Given the description of an element on the screen output the (x, y) to click on. 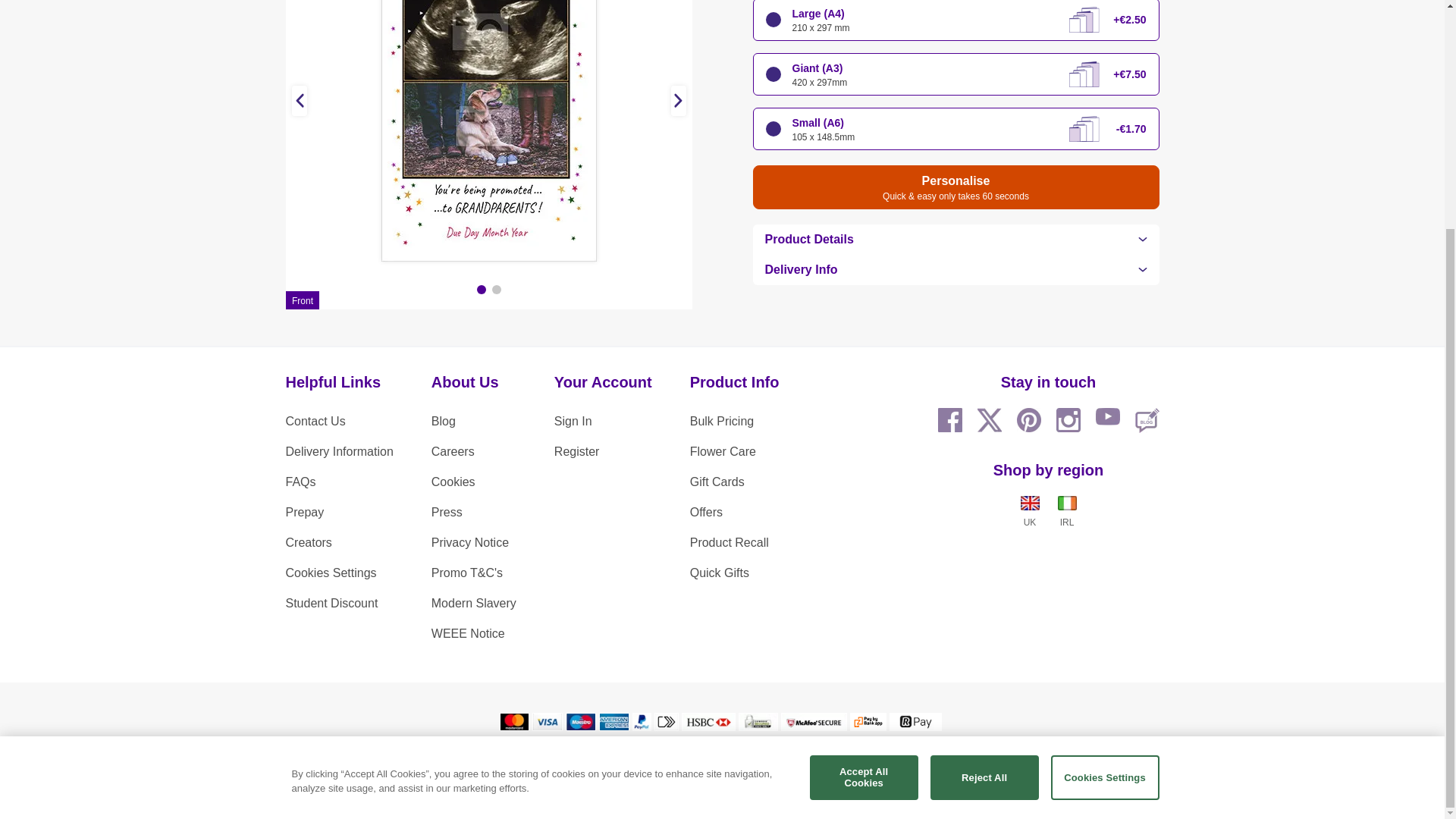
Like us on Facebook (948, 419)
Read our Blog (1146, 419)
Follow us on Twitter (988, 419)
Follow us on YouTube (1106, 419)
Blog (473, 420)
Follow us on Instagram (1067, 419)
Follow us on Pinterest (1028, 419)
